Given the description of an element on the screen output the (x, y) to click on. 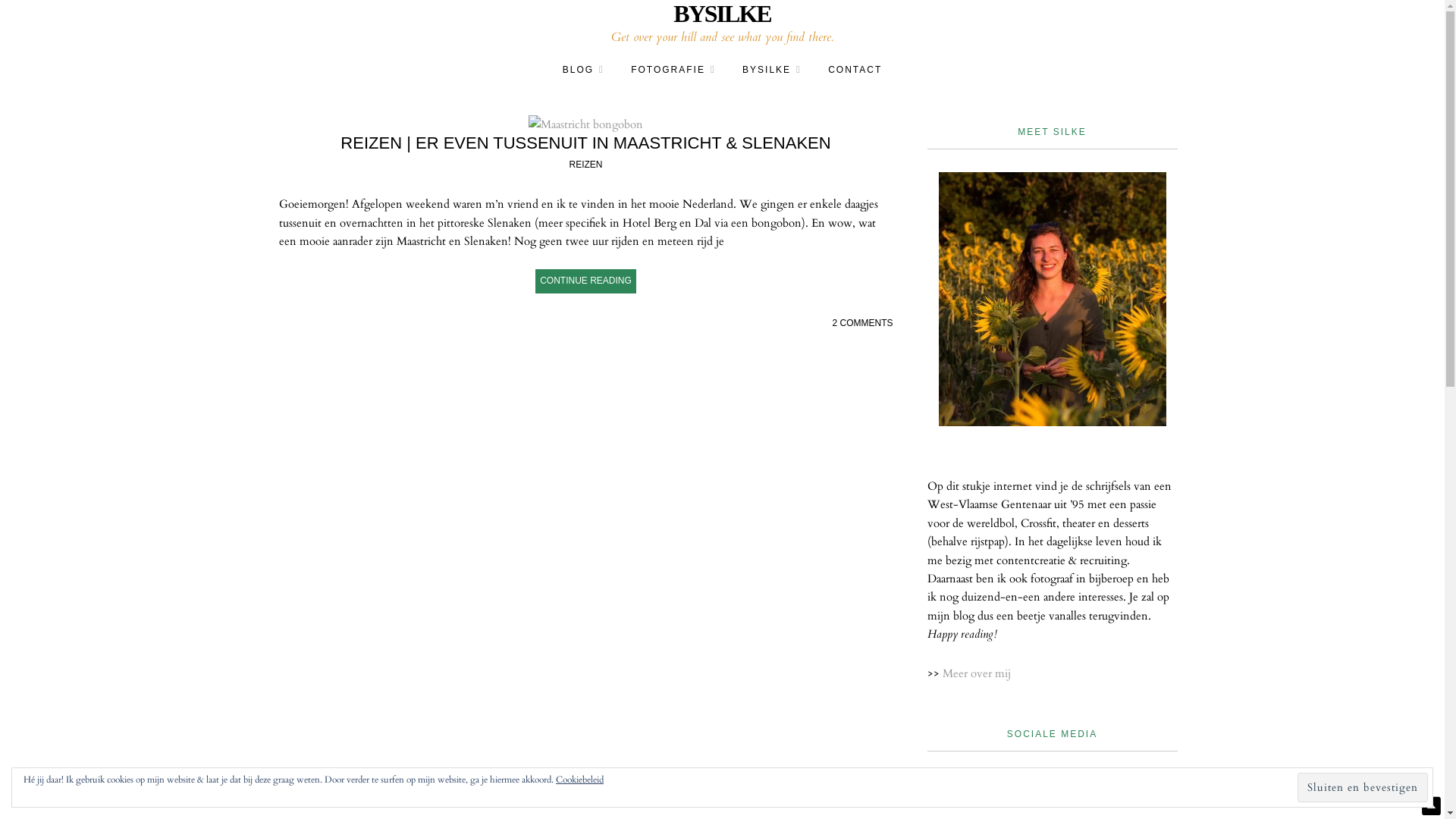
Cookiebeleid Element type: text (579, 779)
2 COMMENTS Element type: text (861, 322)
REIZEN Element type: text (585, 164)
CONTACT Element type: text (854, 69)
BYSILKE Element type: text (721, 13)
BYSILKE Element type: text (771, 69)
CONTINUE READING Element type: text (585, 281)
FOTOGRAFIE Element type: text (672, 69)
BLOG Element type: text (583, 69)
Sluiten en bevestigen Element type: text (1362, 787)
REIZEN | ER EVEN TUSSENUIT IN MAASTRICHT & SLENAKEN Element type: text (585, 142)
Meer over mij Element type: text (975, 672)
